Given the description of an element on the screen output the (x, y) to click on. 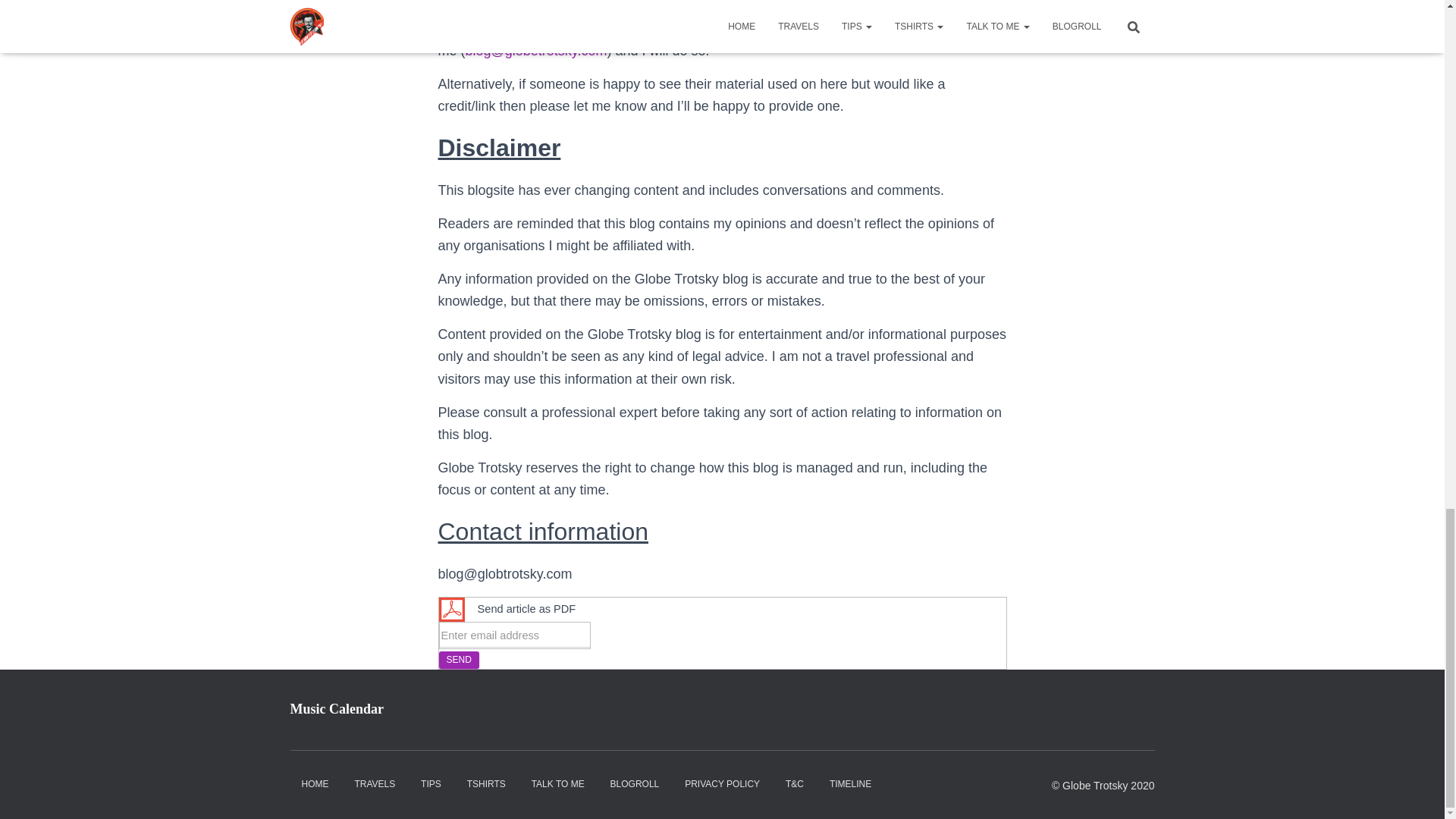
Send (458, 660)
Send (458, 660)
TIPS (430, 784)
HOME (314, 784)
TSHIRTS (485, 784)
TRAVELS (374, 784)
